Given the description of an element on the screen output the (x, y) to click on. 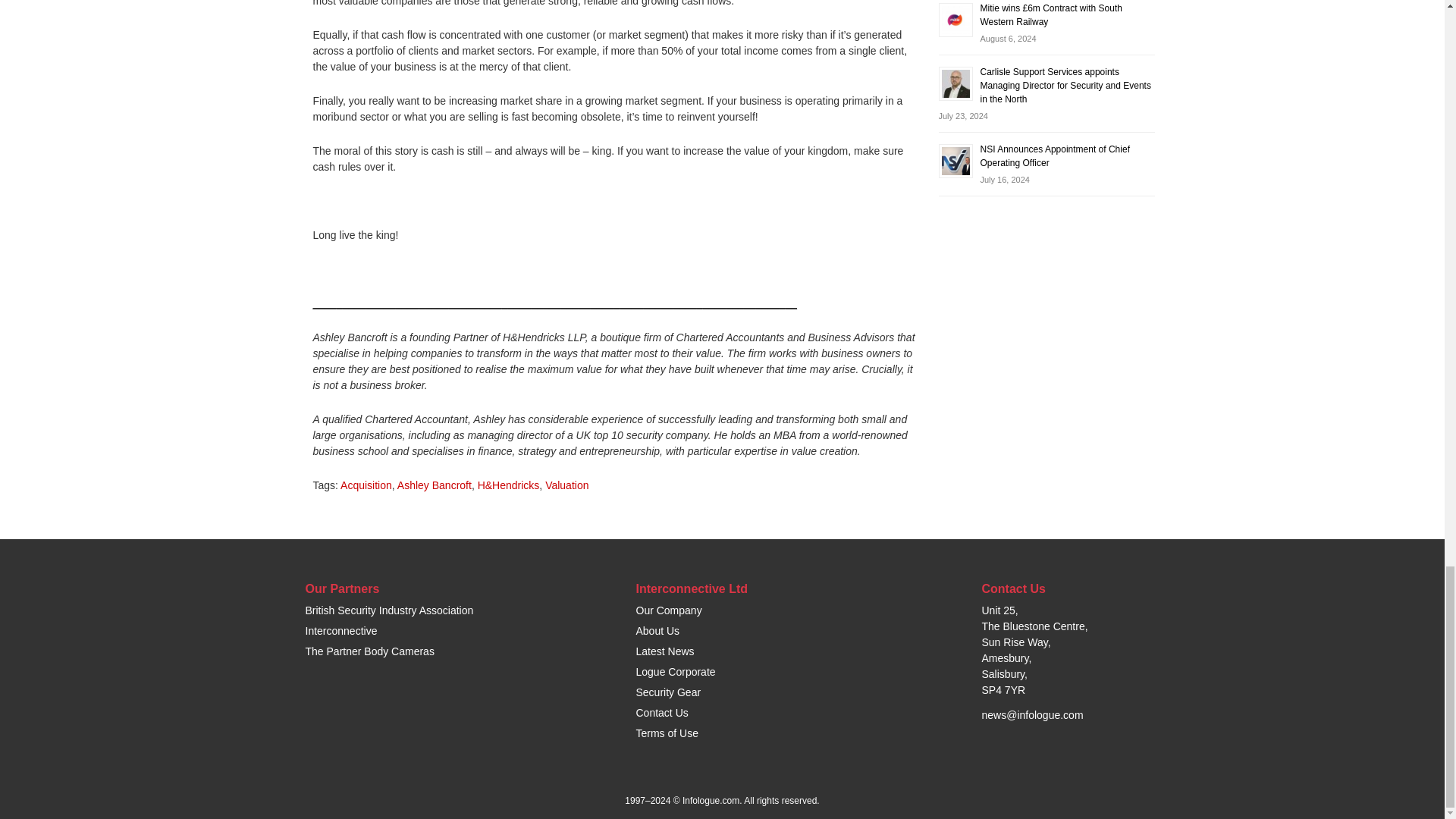
Valuation (566, 485)
Ashley Bancroft (434, 485)
Acquisition (365, 485)
